Given the description of an element on the screen output the (x, y) to click on. 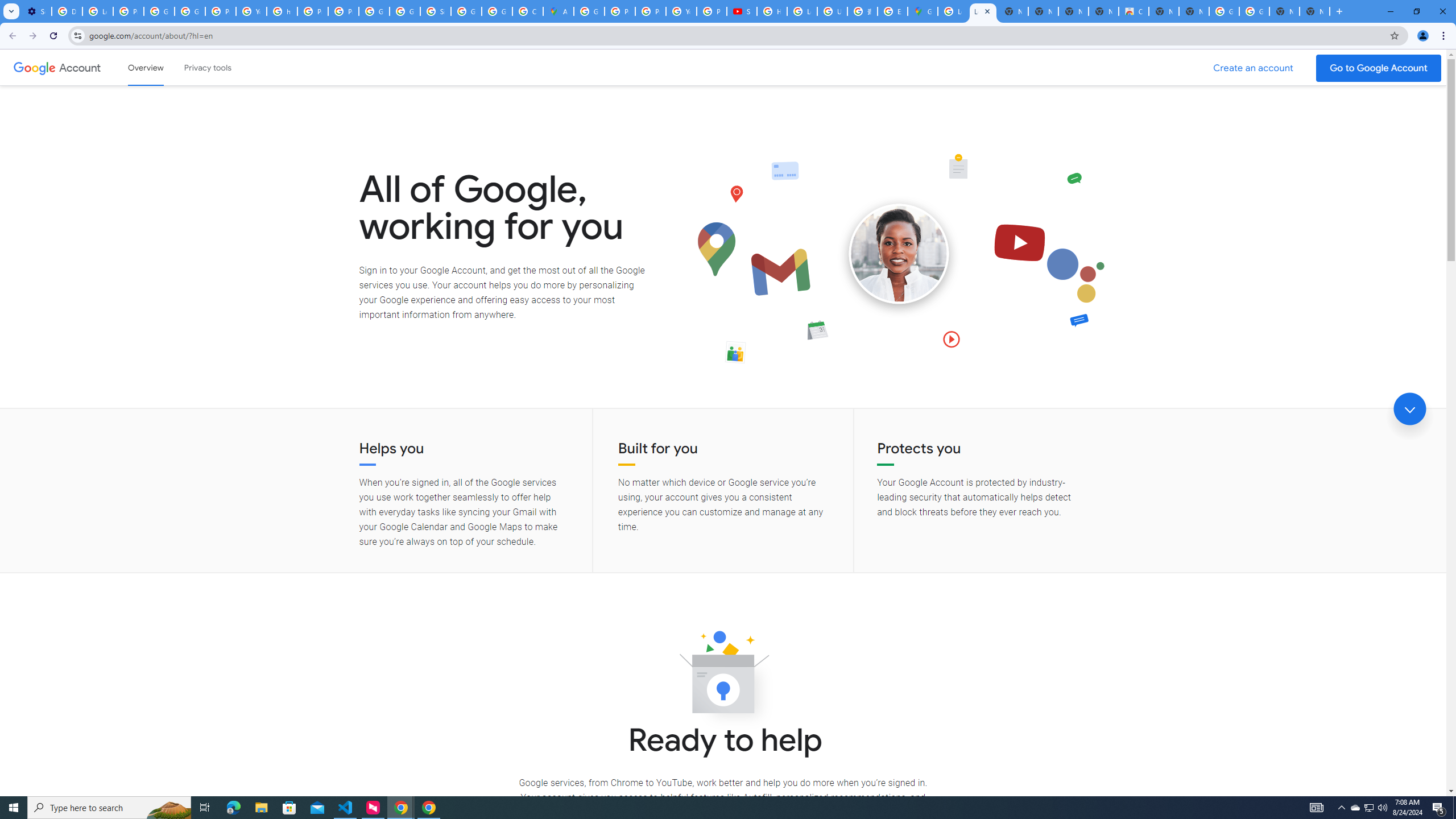
Google Account Help (189, 11)
https://scholar.google.com/ (282, 11)
Privacy Help Center - Policies Help (312, 11)
Privacy Help Center - Policies Help (650, 11)
Learn how to find your photos - Google Photos Help (97, 11)
Google Images (1254, 11)
Delete photos & videos - Computer - Google Photos Help (66, 11)
